Given the description of an element on the screen output the (x, y) to click on. 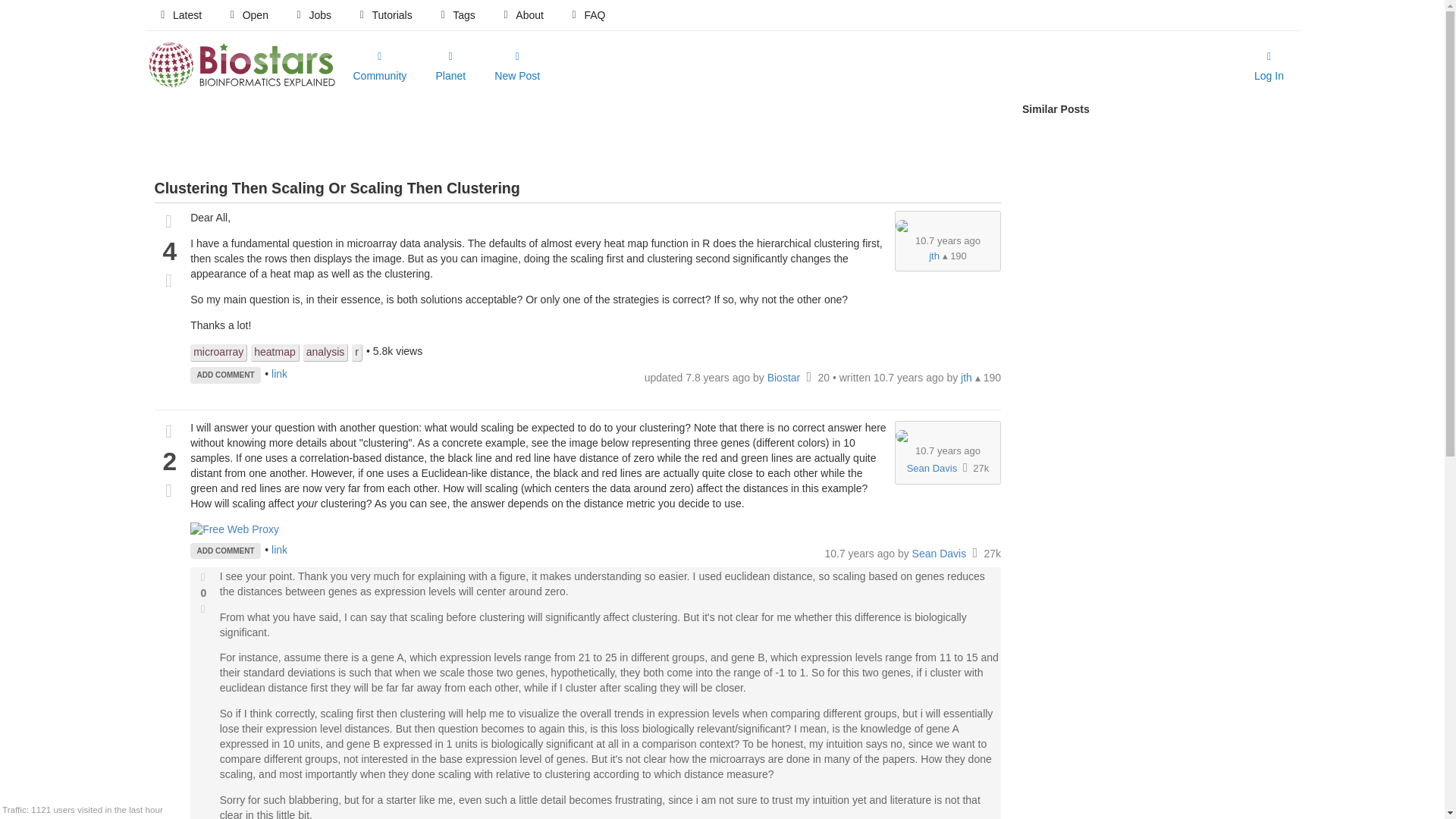
Open (247, 15)
3rd party ad content (577, 136)
link (278, 373)
microarray (218, 352)
jth (933, 255)
ADD COMMENT (225, 375)
Planet (450, 66)
Biostar (785, 377)
heatmap (274, 352)
analysis (325, 352)
About (521, 15)
Community (379, 66)
FAQ (586, 15)
Jobs (312, 15)
Log In (1269, 66)
